Given the description of an element on the screen output the (x, y) to click on. 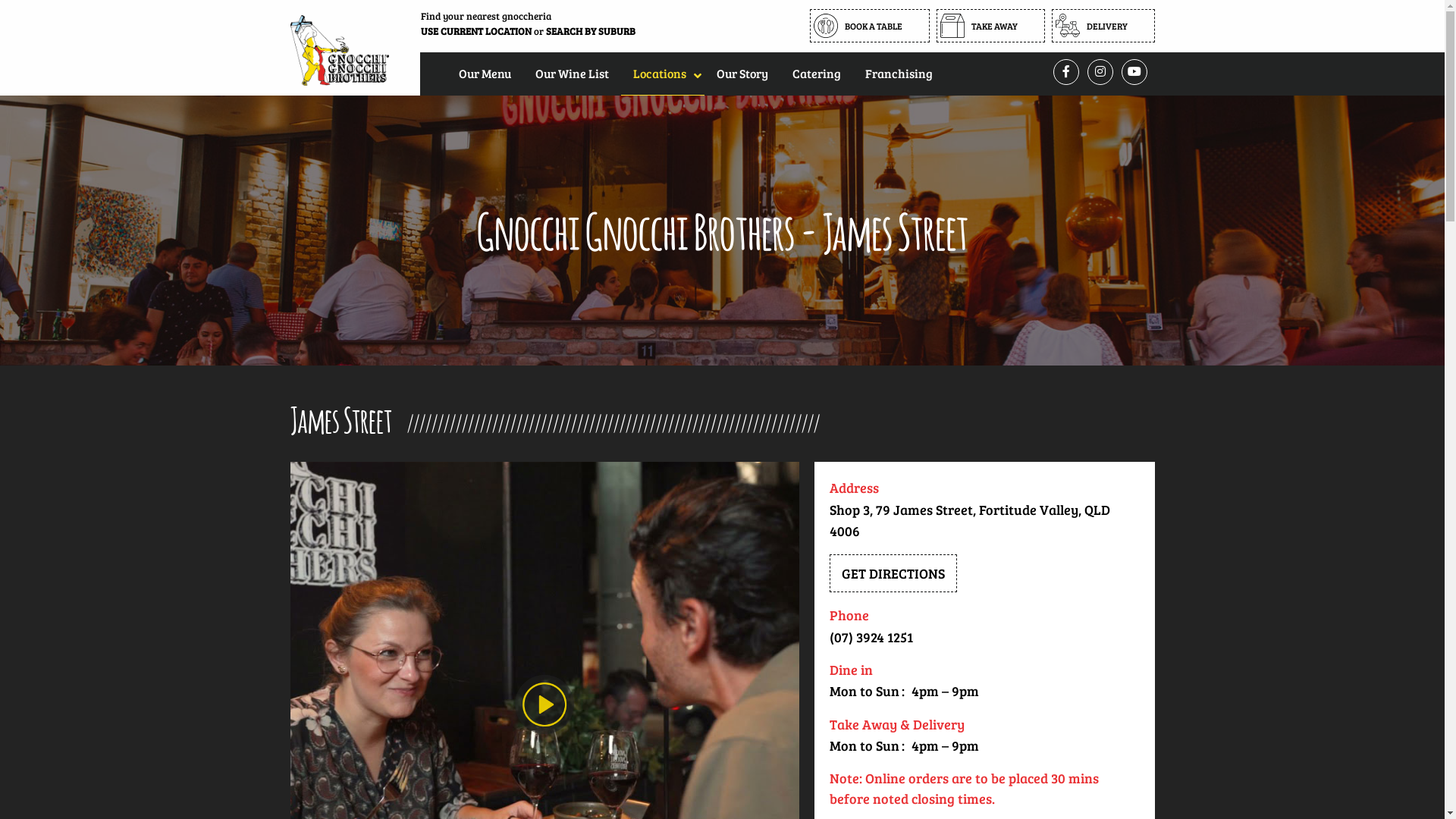
Franchising Element type: text (898, 73)
SEARCH BY SUBURB Element type: text (590, 30)
Our Story Element type: text (741, 73)
Our Wine List Element type: text (572, 73)
DELIVERY Element type: text (1102, 25)
BOOK A TABLE Element type: text (869, 25)
USE CURRENT LOCATION Element type: text (475, 30)
Catering Element type: text (815, 73)
GET DIRECTIONS Element type: text (893, 573)
TAKE AWAY Element type: text (989, 25)
Locations Element type: text (661, 73)
Our Menu Element type: text (483, 73)
